Given the description of an element on the screen output the (x, y) to click on. 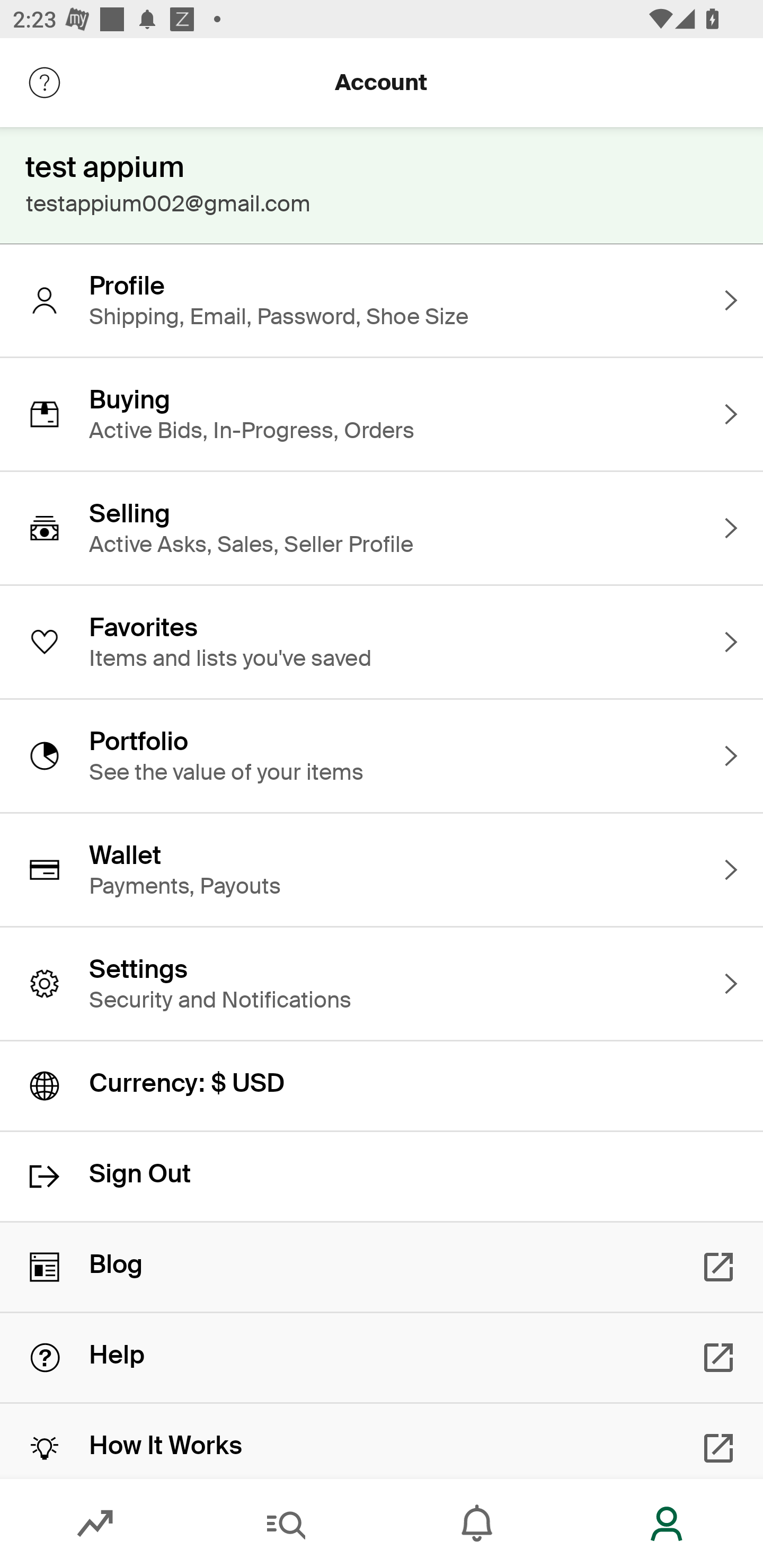
Profile Shipping, Email, Password, Shoe Size (381, 299)
Buying Active Bids, In-Progress, Orders (381, 413)
Selling Active Asks, Sales, Seller Profile (381, 527)
Favorites Items and lists you've saved (381, 641)
Portfolio See the value of your items (381, 755)
Wallet Payments, Payouts (381, 869)
Settings Security and Notifications (381, 983)
Currency: $ USD (381, 1085)
Sign Out (381, 1176)
Blog (381, 1266)
Help (381, 1357)
How It Works (381, 1440)
Market (95, 1523)
Search (285, 1523)
Inbox (476, 1523)
